Given the description of an element on the screen output the (x, y) to click on. 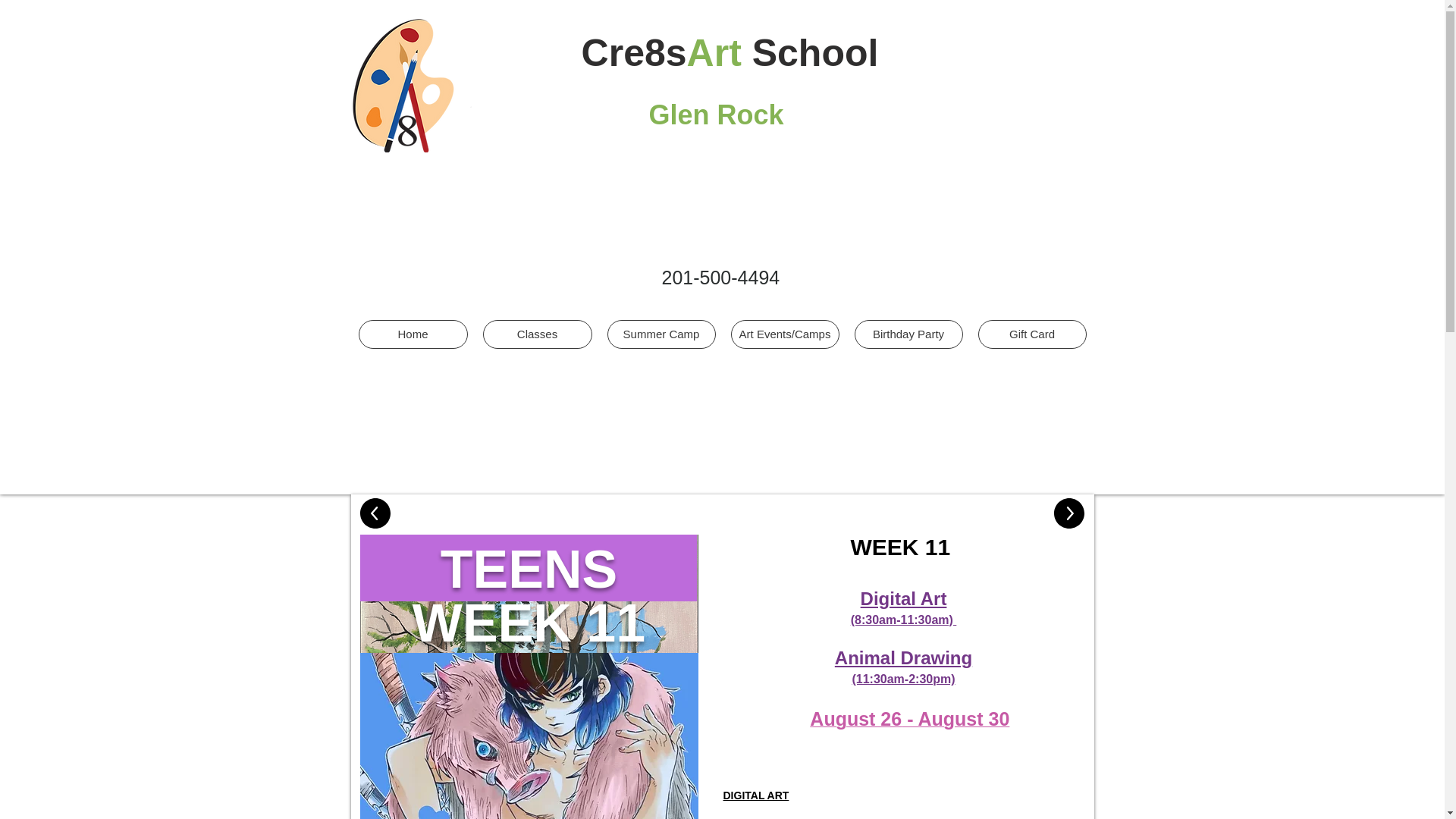
Birthday Party (907, 334)
Home (412, 334)
Summer Camp (660, 334)
Classes (536, 334)
Gift Card (1032, 334)
